Given the description of an element on the screen output the (x, y) to click on. 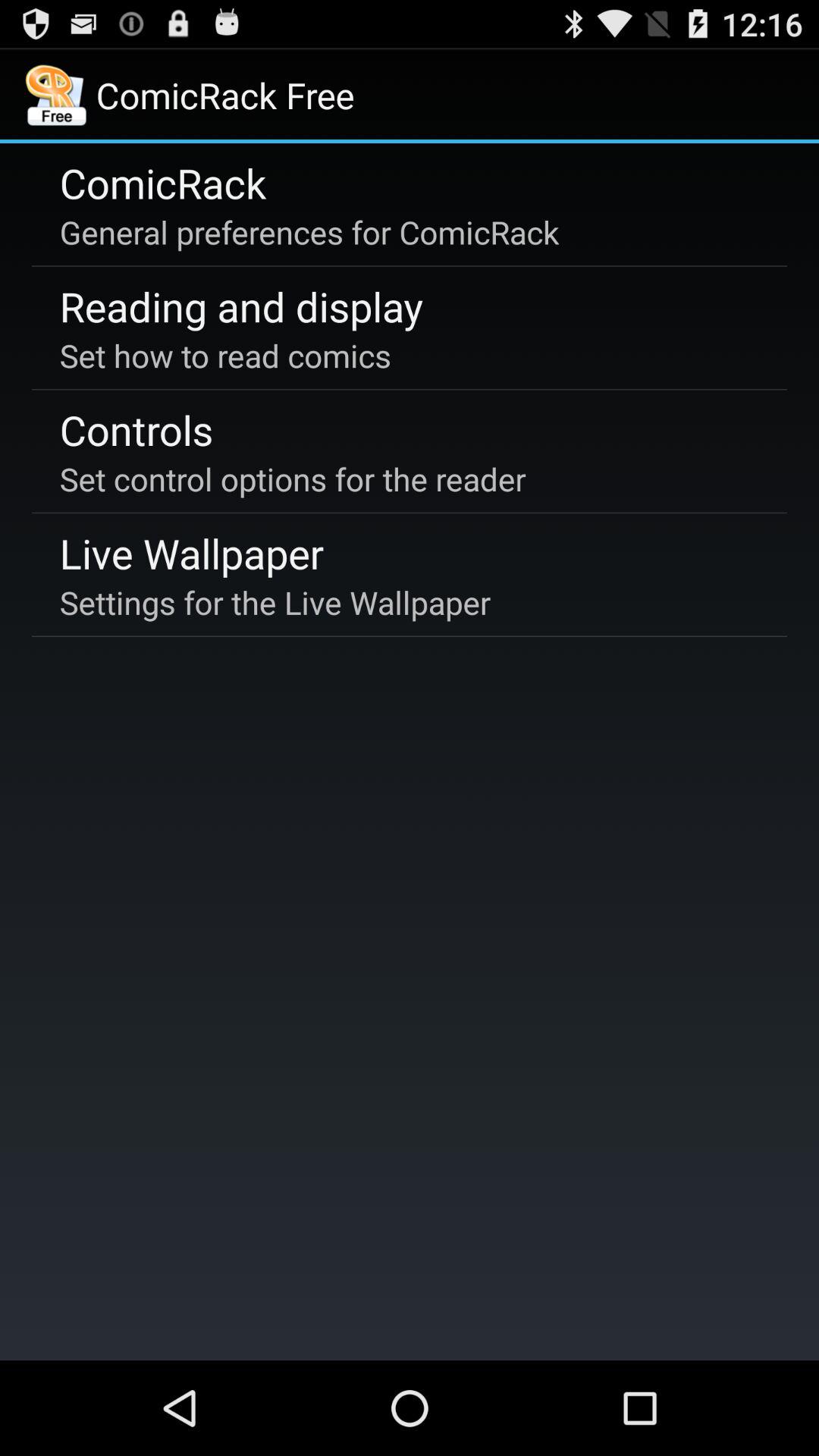
scroll to the general preferences for app (309, 231)
